Given the description of an element on the screen output the (x, y) to click on. 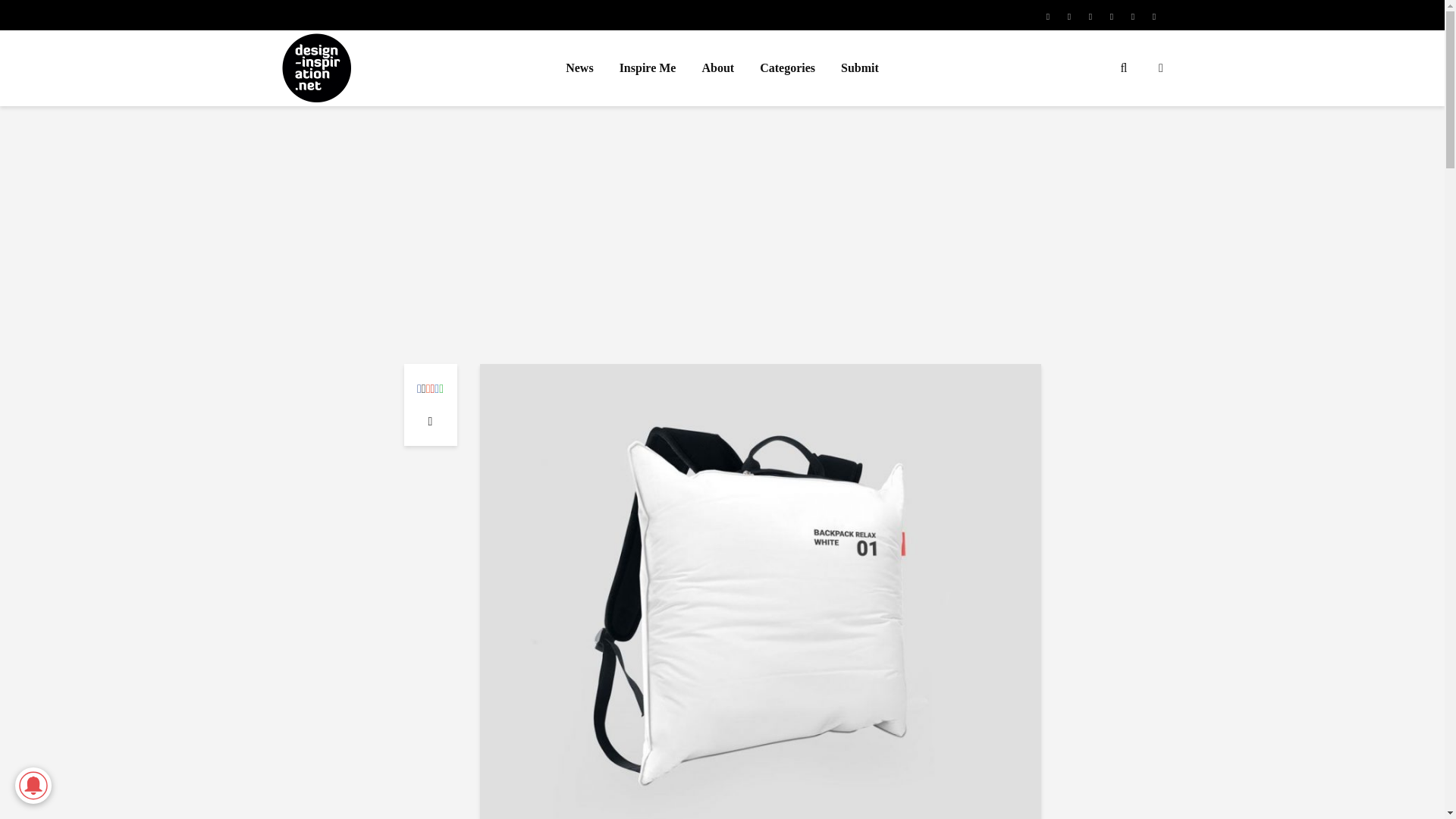
About (717, 68)
Submit (859, 68)
News (579, 68)
Inspire Me (647, 68)
Categories (787, 68)
